Given the description of an element on the screen output the (x, y) to click on. 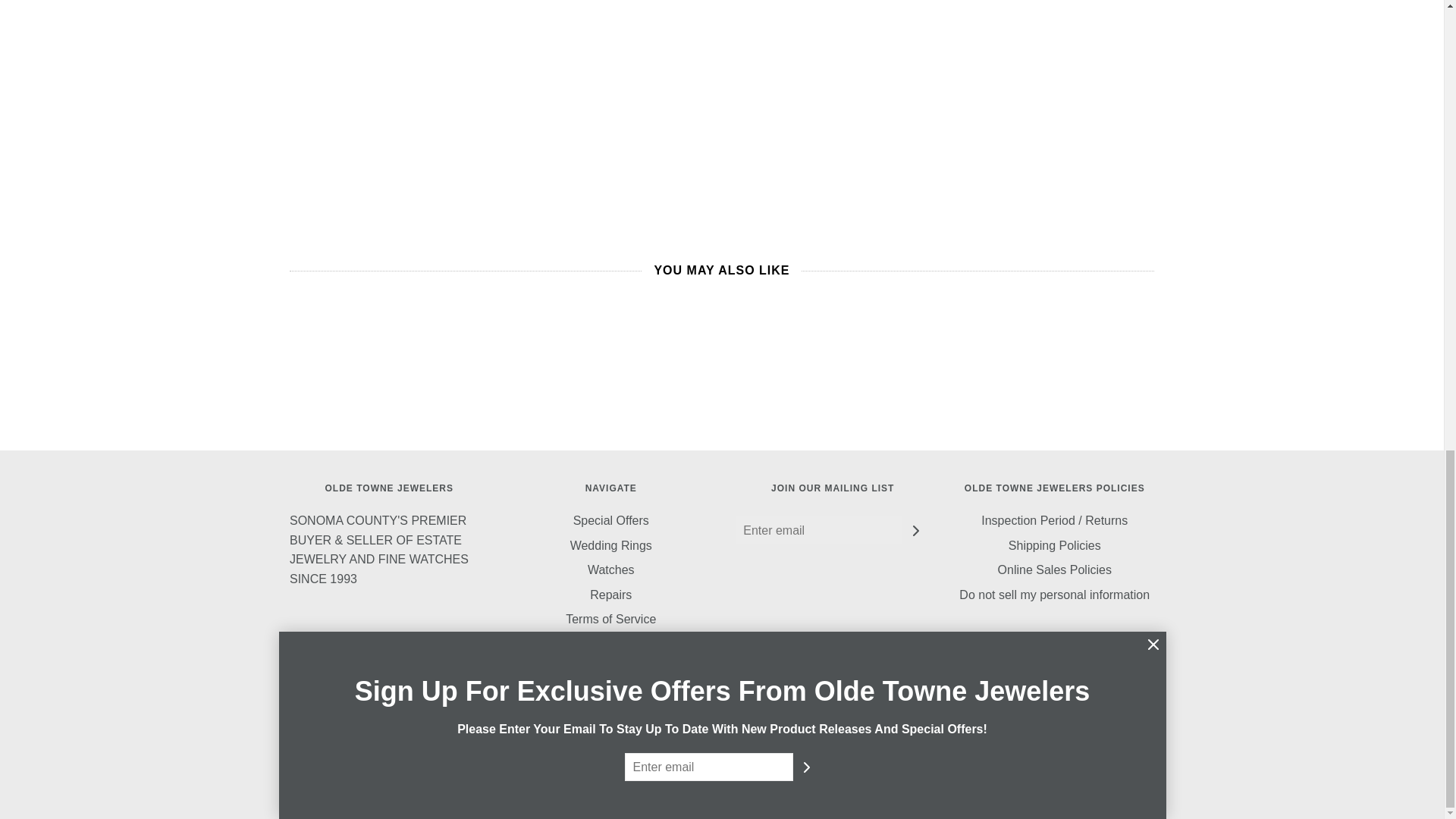
Meta Pay (856, 720)
American Express (759, 720)
Apple Pay (808, 720)
PayPal (1000, 720)
Shop Pay (1047, 720)
Google Pay (903, 720)
Visa (1145, 720)
Mastercard (952, 720)
Venmo (1096, 720)
